Given the description of an element on the screen output the (x, y) to click on. 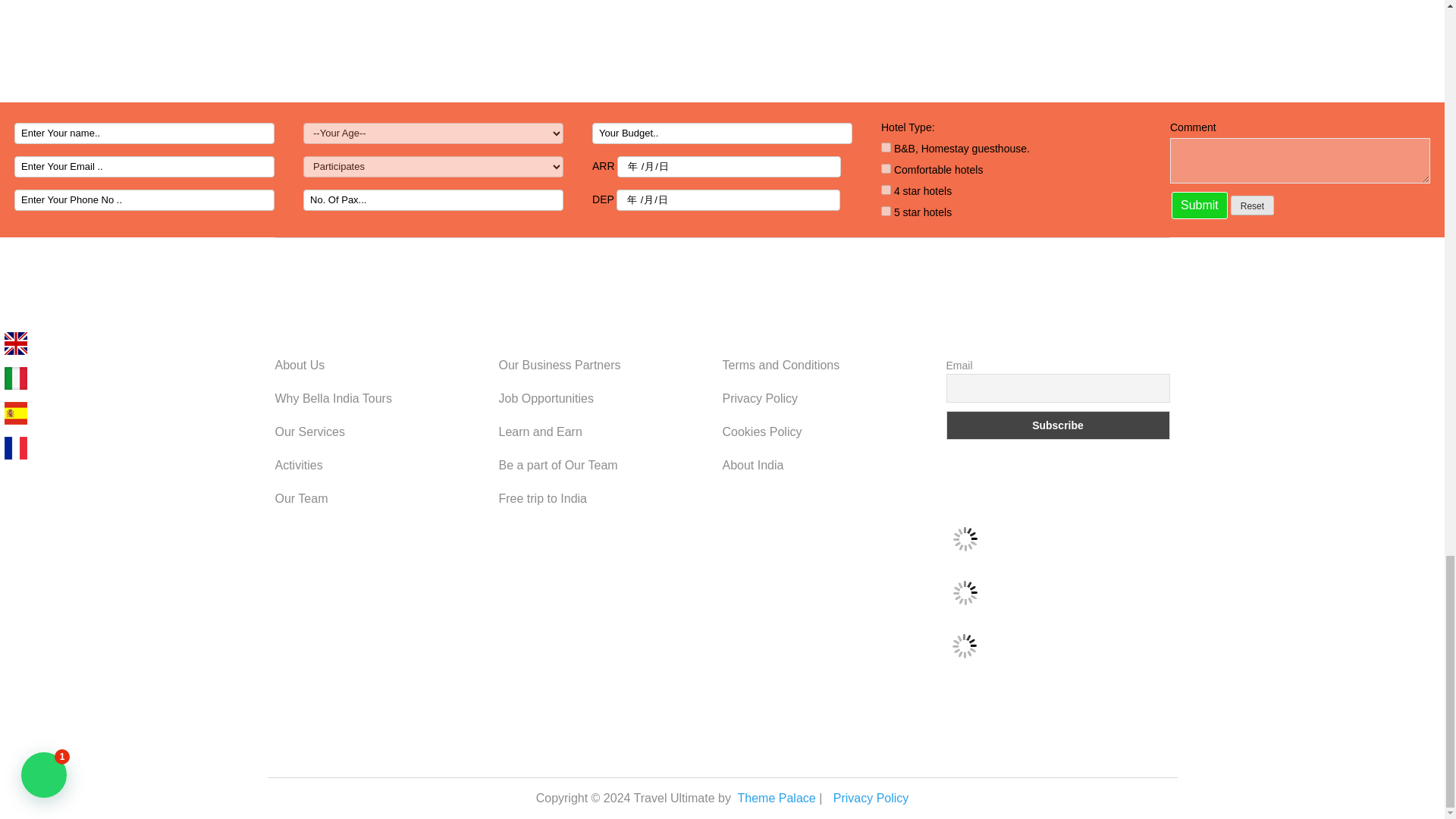
Reset (1252, 205)
Subscribe (1058, 425)
Submit (1199, 205)
Comfortable hotels (885, 168)
5 star hotels (885, 211)
4 star hotels (885, 189)
